Given the description of an element on the screen output the (x, y) to click on. 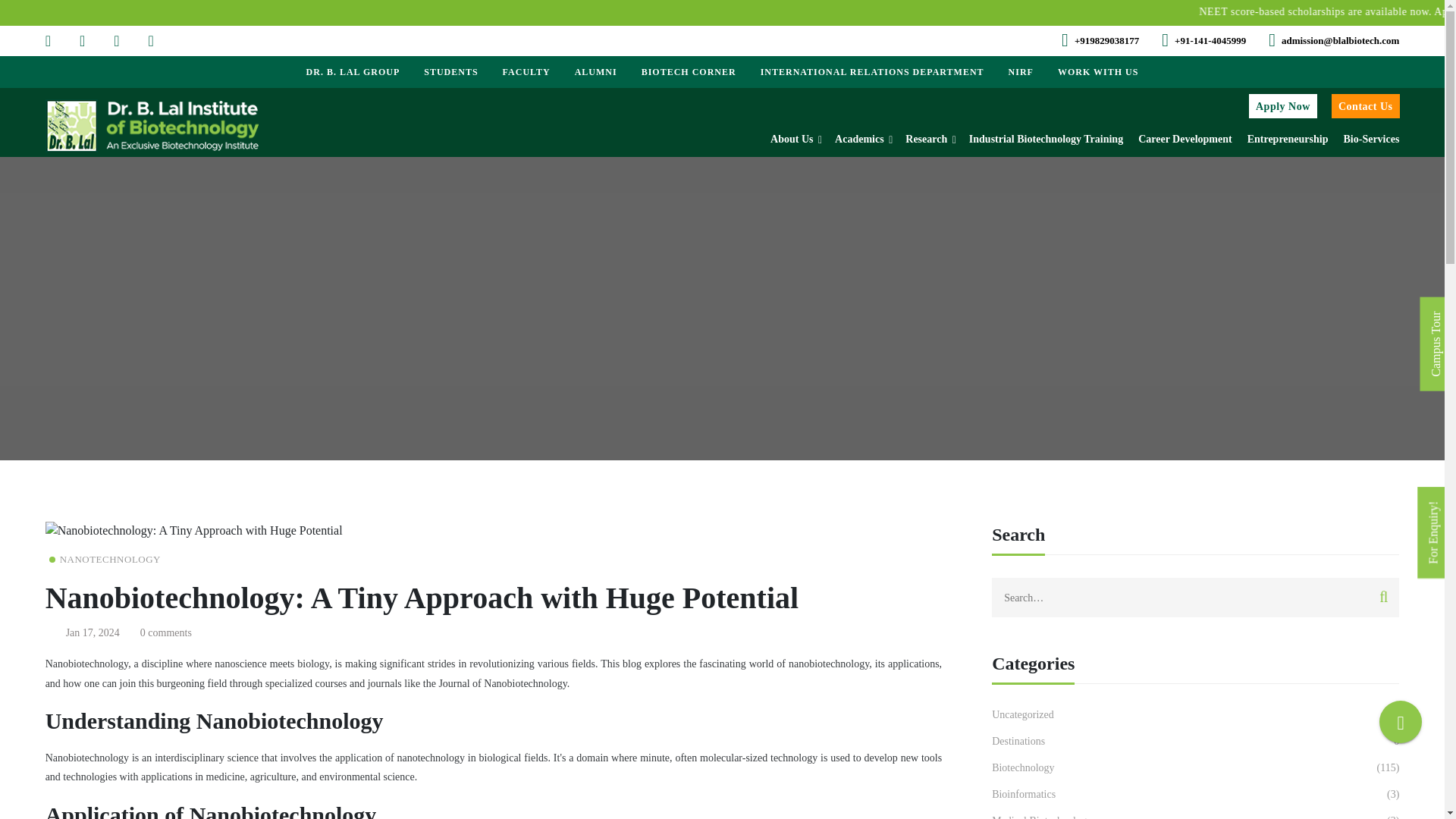
Apply Now (1283, 105)
ALUMNI (595, 71)
Academics (861, 138)
Research (929, 138)
Contact Us (1365, 105)
About Us (794, 138)
FACULTY (526, 71)
STUDENTS (450, 71)
WORK WITH US (1097, 71)
NIRF (1020, 71)
